Given the description of an element on the screen output the (x, y) to click on. 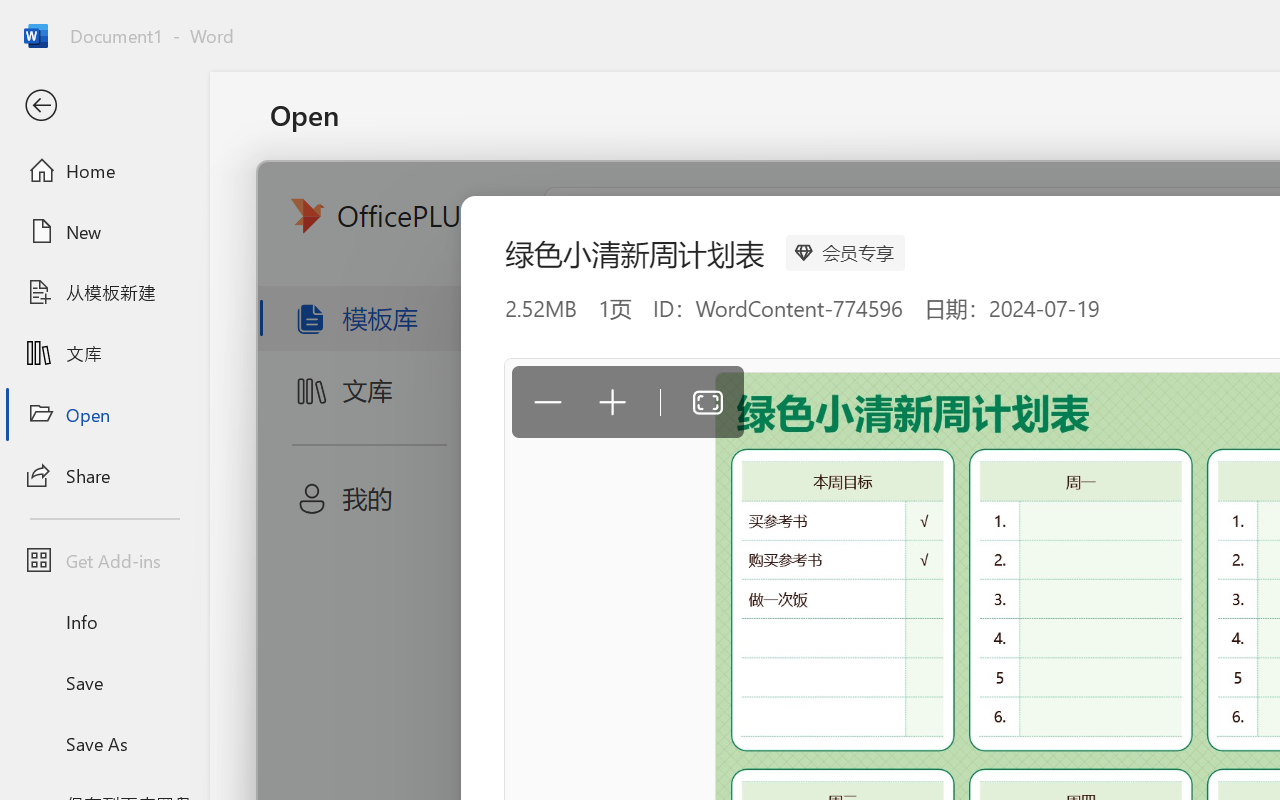
New (104, 231)
Get Add-ins (104, 560)
Info (104, 621)
Back (104, 106)
Save As (104, 743)
